Given the description of an element on the screen output the (x, y) to click on. 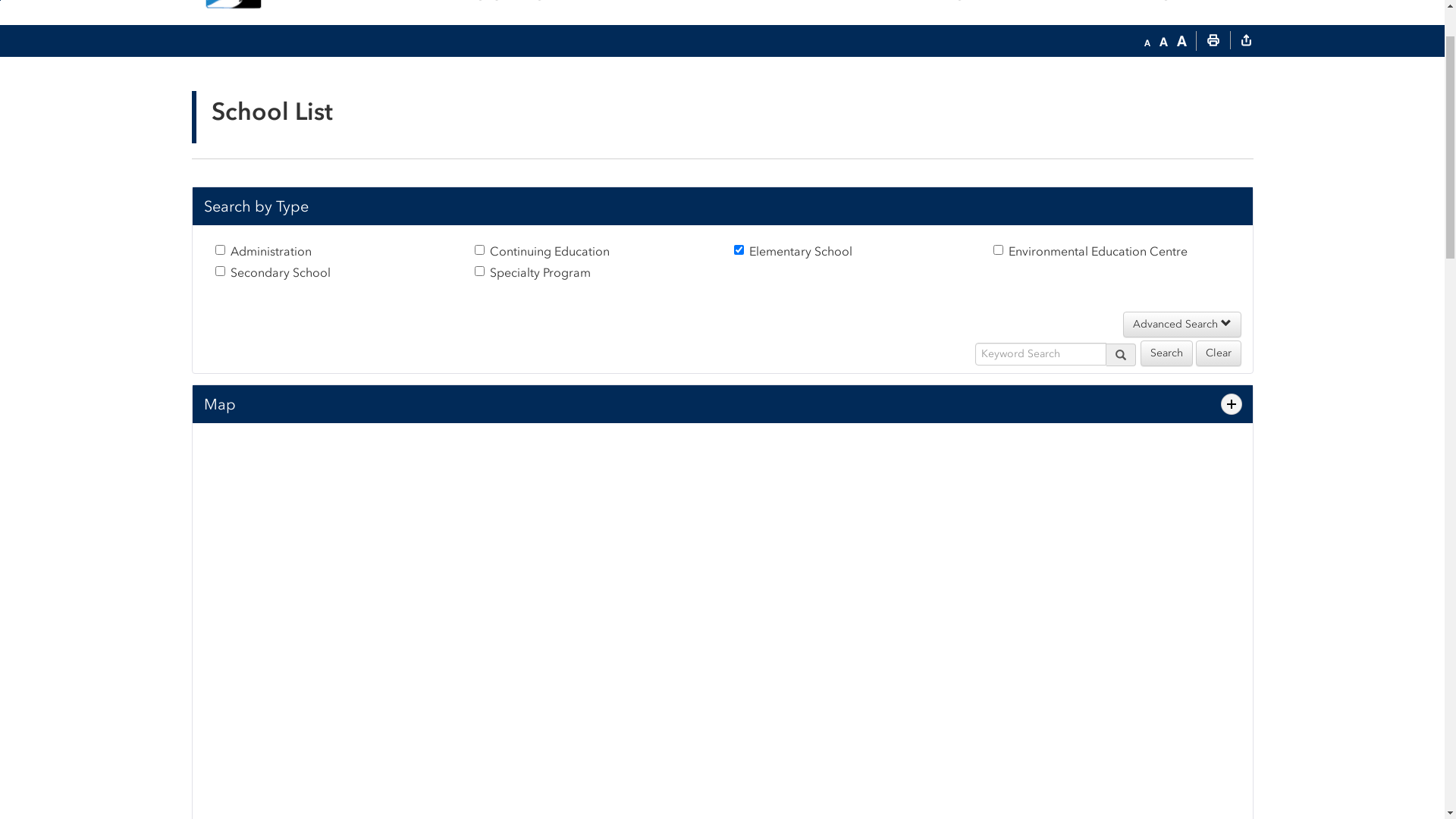
School District No.73 Element type: text (257, 15)
Click to return to the homepage Element type: hover (235, 74)
I'D LIKE TO... Element type: text (1184, 15)
Search Element type: text (1166, 448)
OUR DISTRICT
BOARD Element type: text (689, 74)
  Element type: text (1245, 136)
Advanced Search Element type: text (1181, 419)
Default text size Element type: hover (1162, 136)
Increase text size Element type: hover (1181, 136)
Skip to Content Element type: text (0, 94)
SD73 Element type: text (305, 74)
COMMUNITY
PARENTS & STUDENTS Element type: text (539, 74)
Clear Element type: text (1217, 448)
Print This Page Element type: hover (1212, 136)
mySD73 Element type: text (1072, 15)
Decrease text size Element type: hover (1146, 136)
Search Element type: text (1232, 74)
WORKING TOGETHER
DEPARTMENTS Element type: text (1138, 74)
Feedback Element type: text (1021, 15)
SCHOOLS
PROGRAMS Element type: text (839, 74)
WHAT'S HAPPENING
NEWS Element type: text (988, 74)
